Given the description of an element on the screen output the (x, y) to click on. 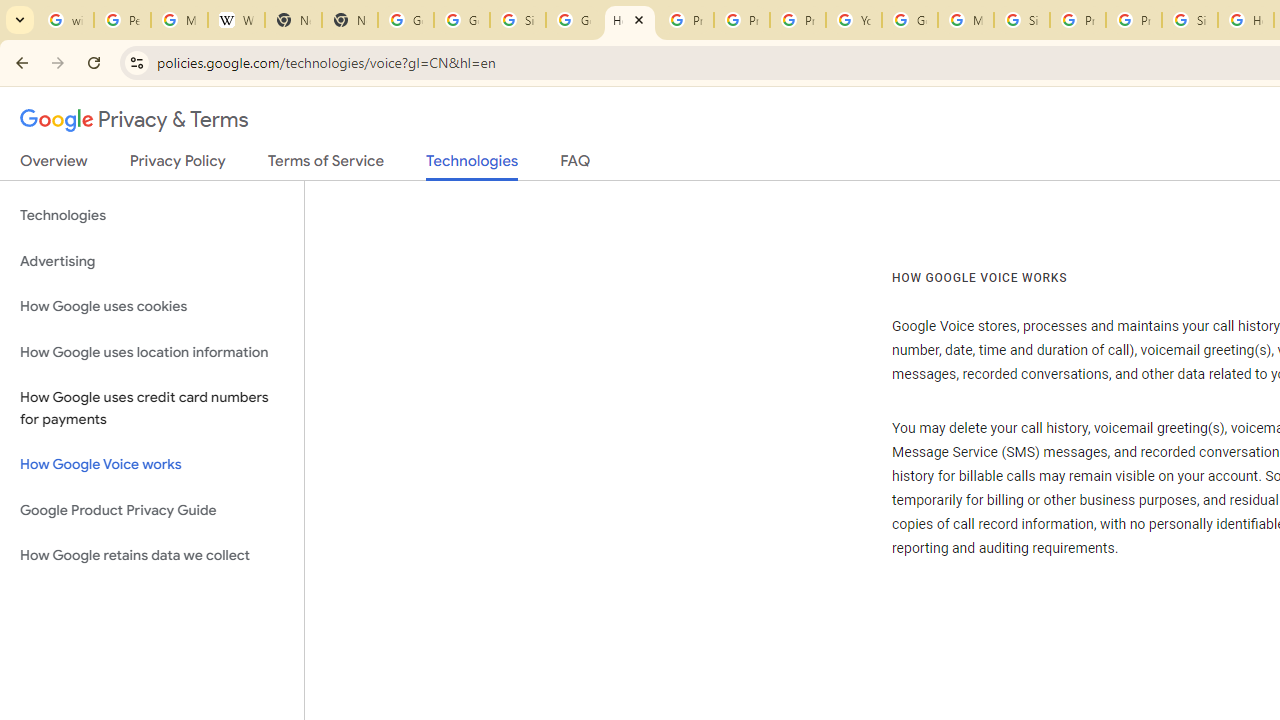
Google Product Privacy Guide (152, 510)
Sign in - Google Accounts (1190, 20)
How Google retains data we collect (152, 555)
How Google uses location information (152, 352)
YouTube (853, 20)
How Google uses cookies (152, 306)
Manage your Location History - Google Search Help (179, 20)
